Given the description of an element on the screen output the (x, y) to click on. 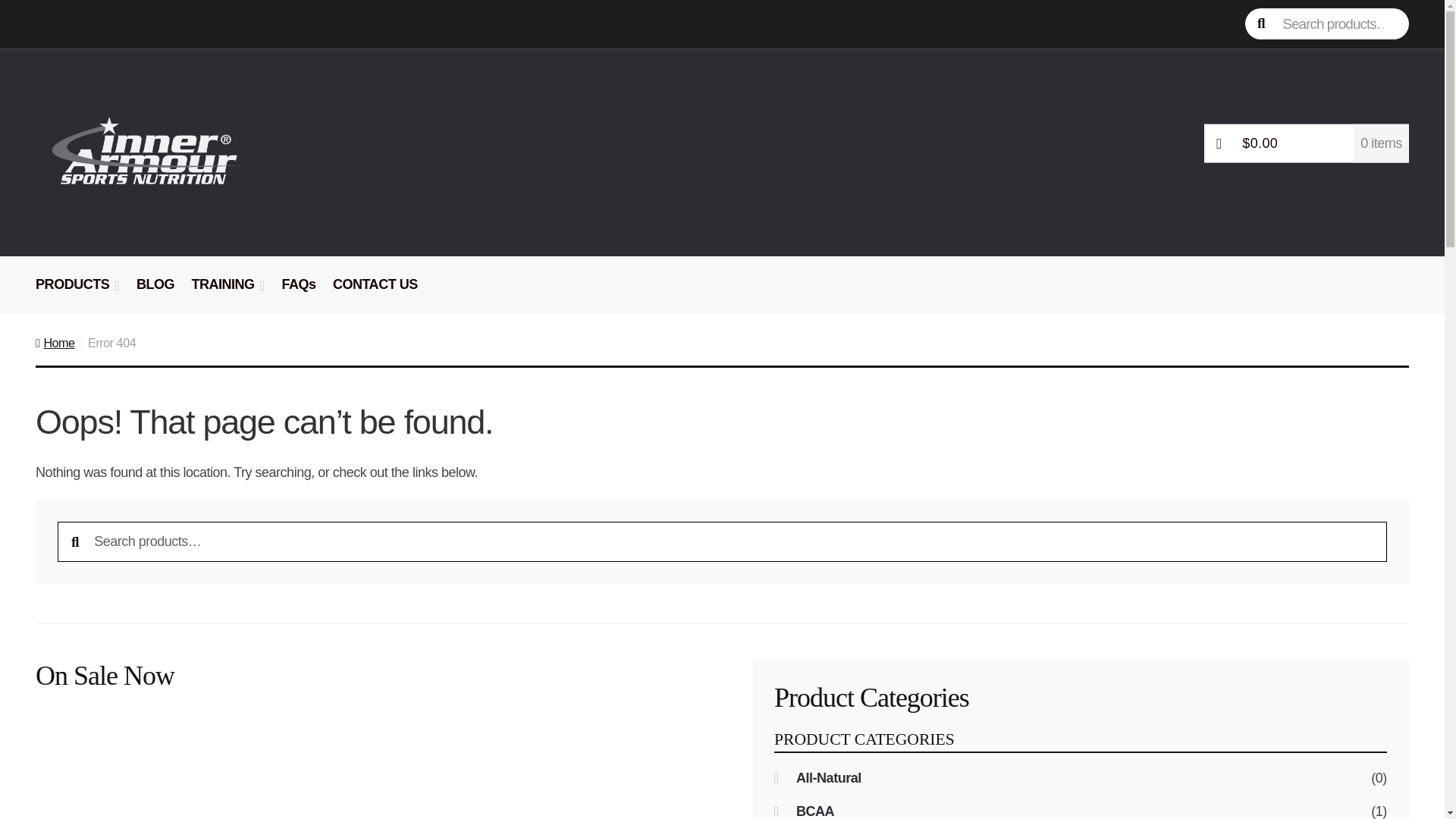
View your shopping cart (1306, 142)
TRAINING (227, 293)
PRODUCTS (77, 293)
CONTACT US (375, 293)
FAQs (298, 293)
BLOG (154, 293)
